Given the description of an element on the screen output the (x, y) to click on. 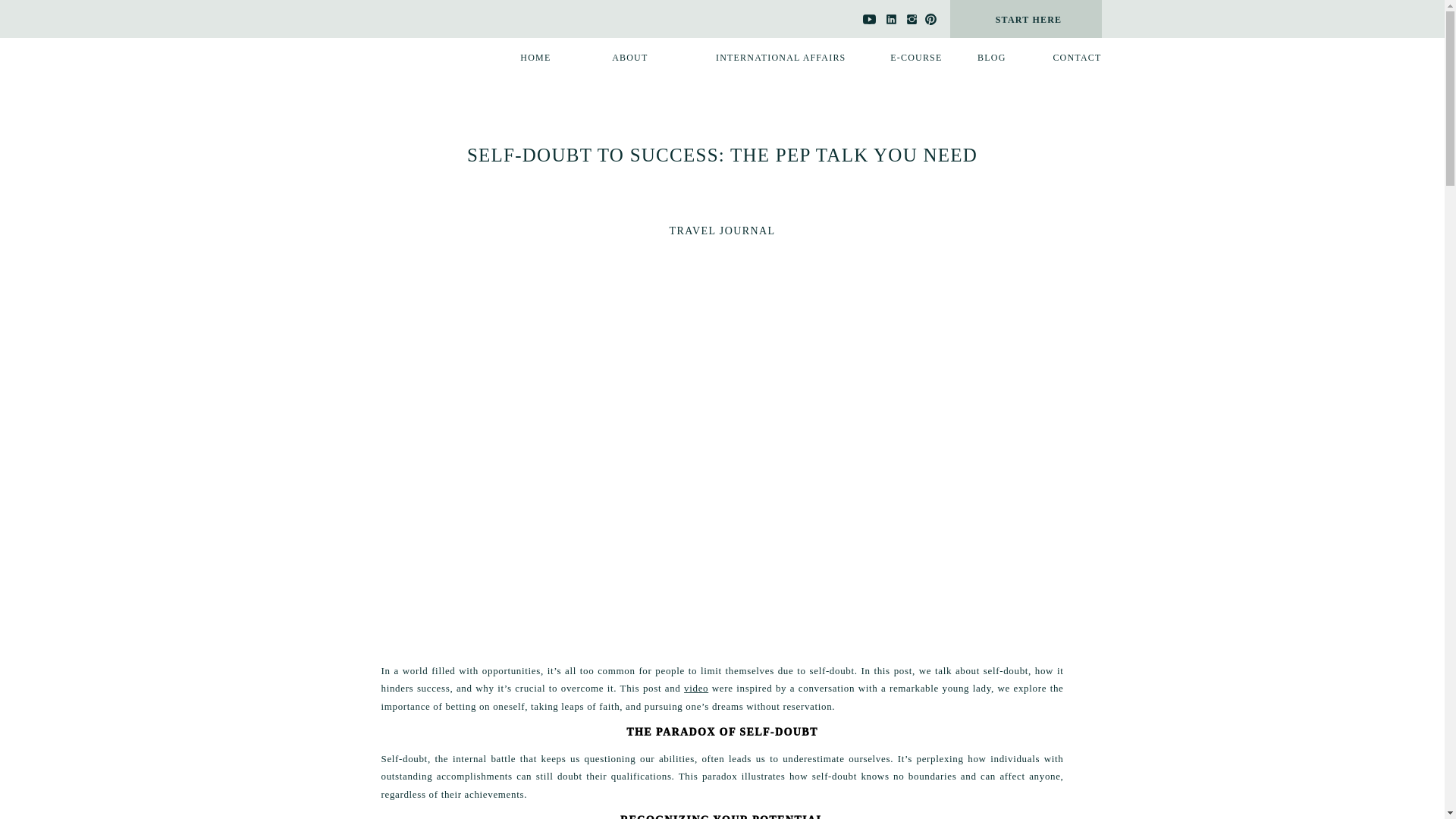
HOME (527, 57)
START HERE (1029, 19)
BLOG (979, 57)
video (695, 687)
INTERNATIONAL AFFAIRS (762, 57)
TRAVEL JOURNAL (722, 230)
E-COURSE (905, 57)
CONTACT (1065, 57)
ABOUT (619, 57)
